Given the description of an element on the screen output the (x, y) to click on. 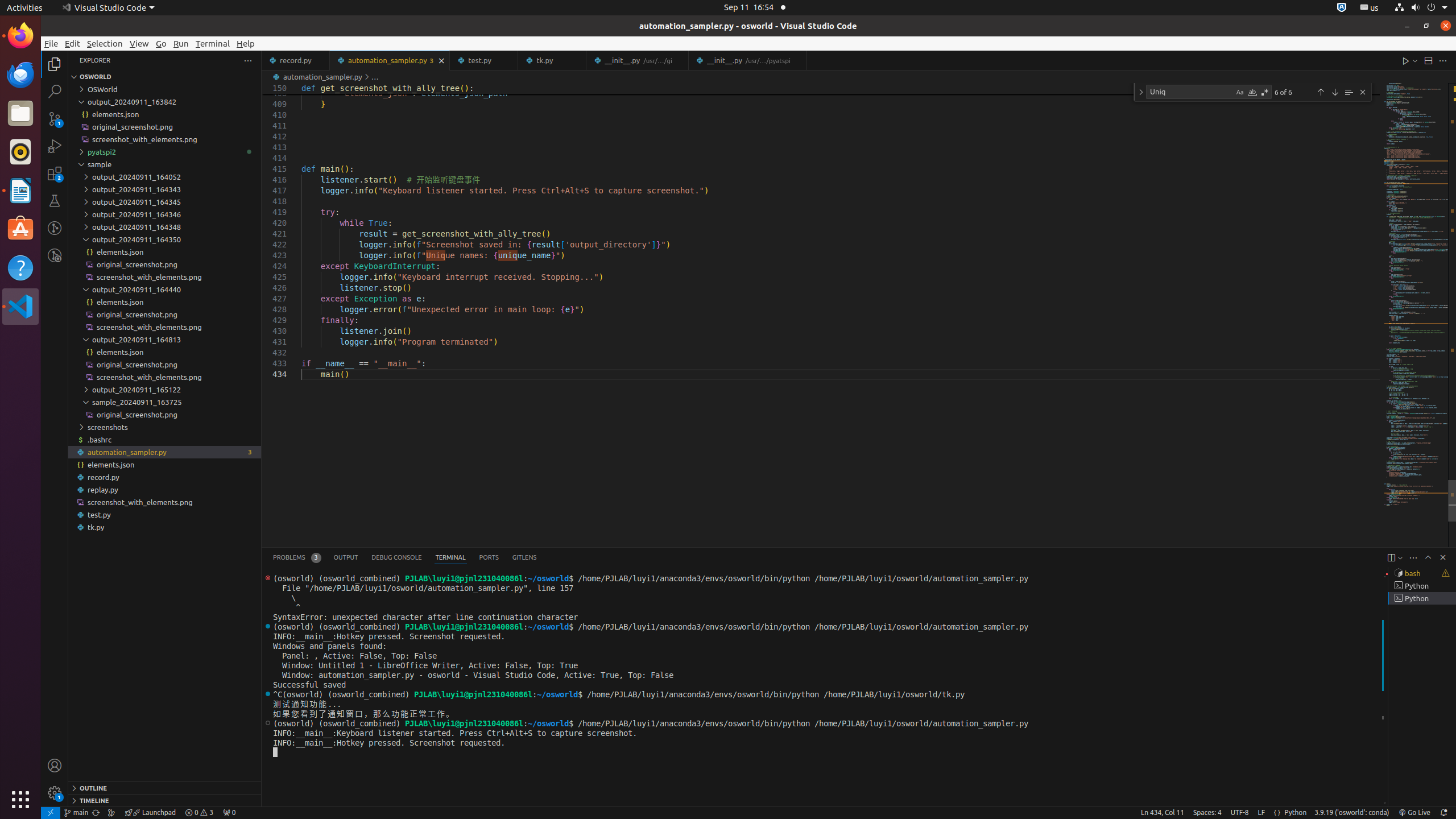
More Actions... Element type: push-button (1442, 60)
Spaces: 4 Element type: push-button (1206, 812)
GitLens Element type: page-tab (524, 557)
Debug Console (Ctrl+Shift+Y) Element type: page-tab (396, 557)
